Given the description of an element on the screen output the (x, y) to click on. 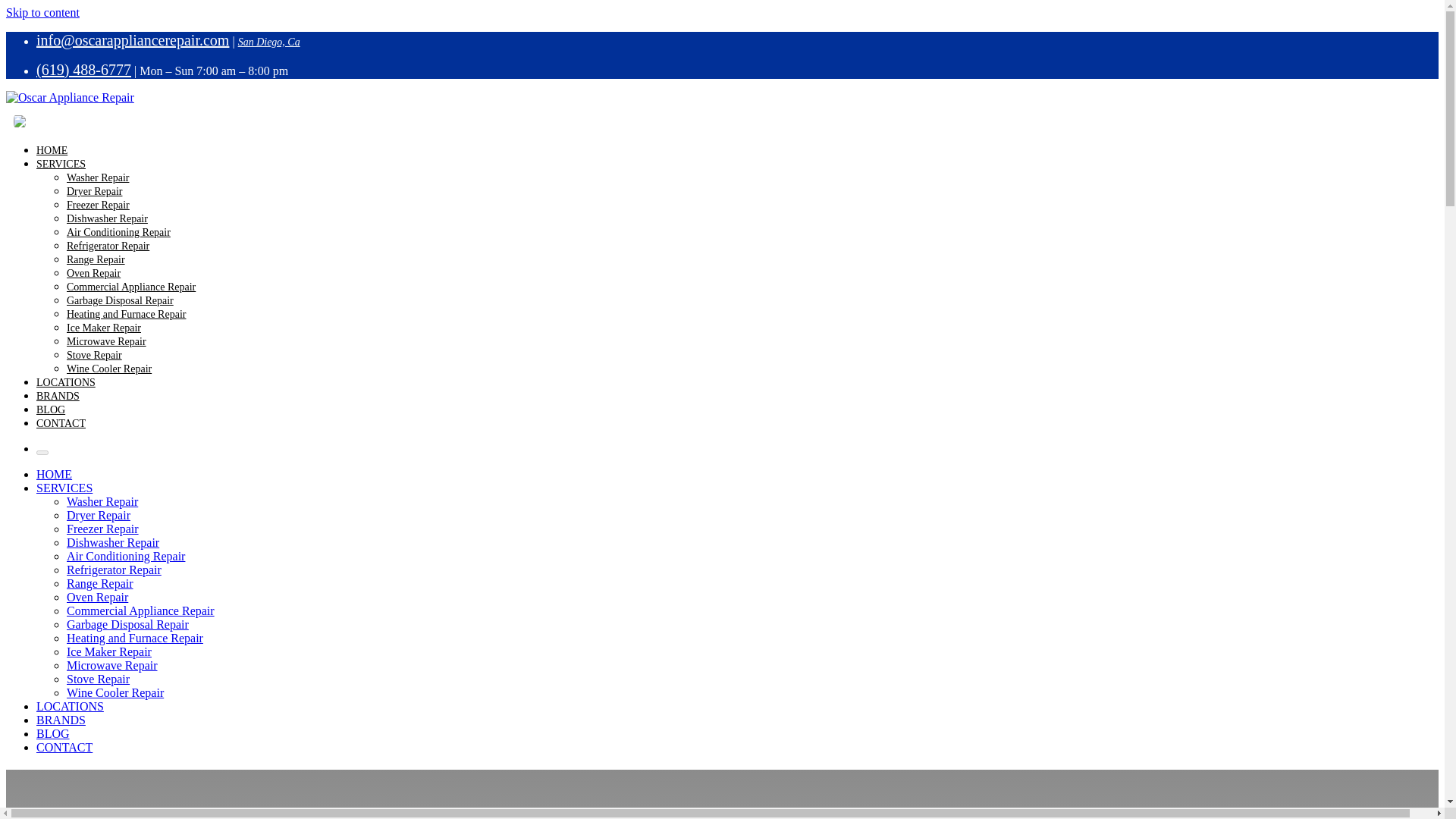
Stove Repair (94, 355)
Garbage Disposal Repair (119, 300)
San Diego, Ca (268, 41)
Refrigerator Repair (113, 569)
Range Repair (99, 583)
Microwave Repair (106, 341)
LOCATIONS (66, 382)
Air Conditioning Repair (118, 232)
Dryer Repair (94, 191)
HOME (53, 473)
Dishwasher Repair (112, 542)
Heating and Furnace Repair (126, 314)
Ice Maker Repair (103, 327)
Dryer Repair (98, 514)
HOME (51, 150)
